Given the description of an element on the screen output the (x, y) to click on. 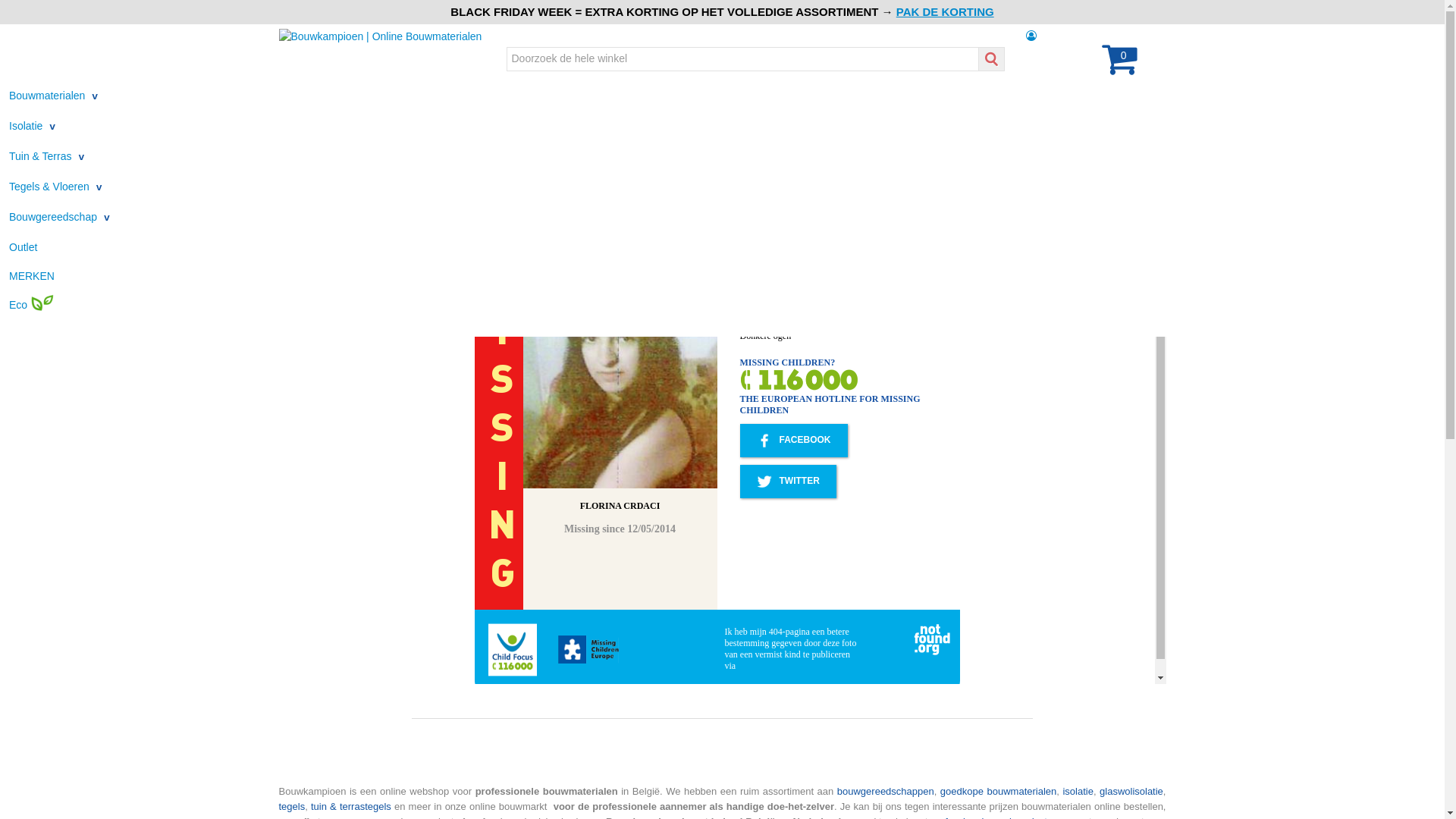
9.3/10 (5678 beoordelingen) Element type: text (646, 23)
Bouwmaterialen v Element type: text (53, 95)
Eco Element type: text (31, 304)
isolatie Element type: text (1077, 791)
bouwgereedschappen Element type: text (885, 791)
goedkope bouwmaterialen Element type: text (998, 791)
Zoeken Element type: text (991, 58)
Bouwkampioen | Online Bouwmaterialen Element type: hover (380, 35)
FAQ Element type: text (300, 9)
Isolatie v Element type: text (32, 125)
Contact Element type: text (349, 9)
Tuin & Terras v Element type: text (46, 156)
0 Element type: text (1118, 68)
Ga terug Element type: text (324, 168)
glaswolisolatie Element type: text (1131, 791)
tegels Element type: text (292, 806)
PAK DE KORTING Element type: text (945, 11)
Bouwgereedschap v Element type: text (59, 216)
Winkel Element type: text (403, 9)
tuin & terrastegels Element type: text (350, 806)
Outlet Element type: text (23, 247)
MERKEN Element type: text (31, 275)
Tegels & Vloeren v Element type: text (55, 186)
